Given the description of an element on the screen output the (x, y) to click on. 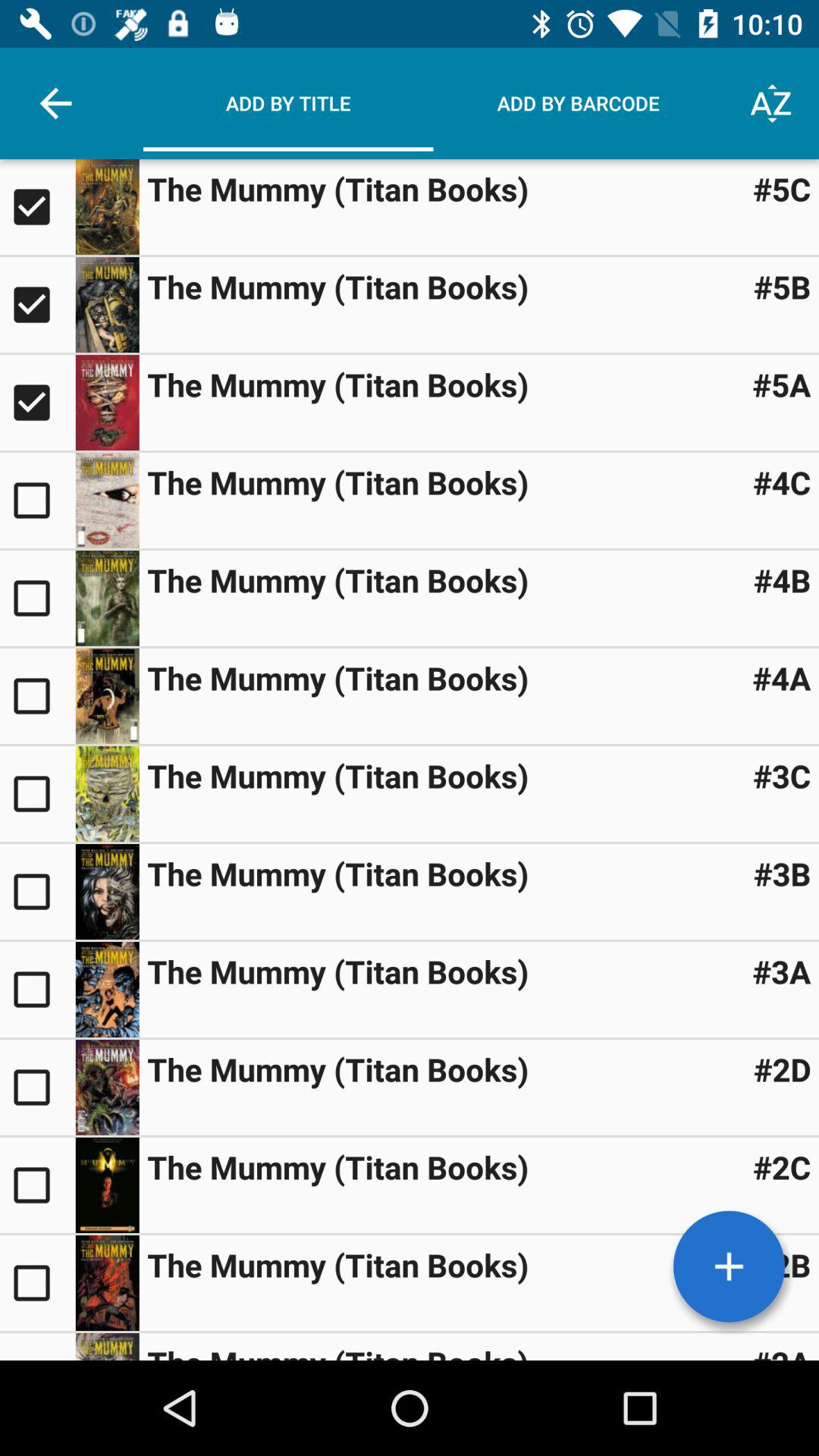
flip until the #4c icon (782, 481)
